Given the description of an element on the screen output the (x, y) to click on. 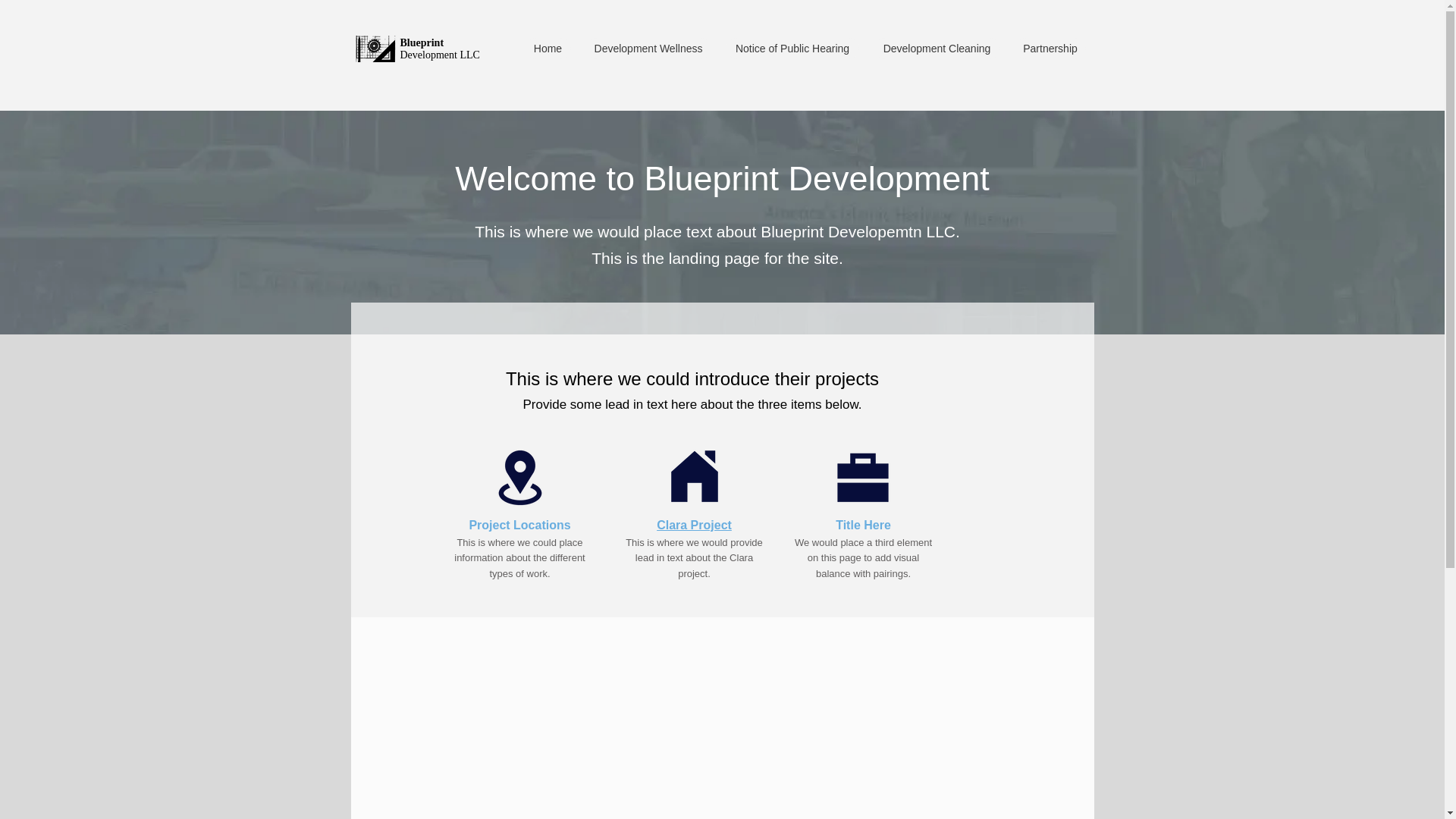
Partnership (1049, 47)
Development Cleaning (935, 47)
Development Wellness (647, 47)
Clara Project (694, 524)
Home (547, 47)
Development LLC (440, 54)
Notice of Public Hearing (792, 47)
Blueprint  (423, 42)
